Given the description of an element on the screen output the (x, y) to click on. 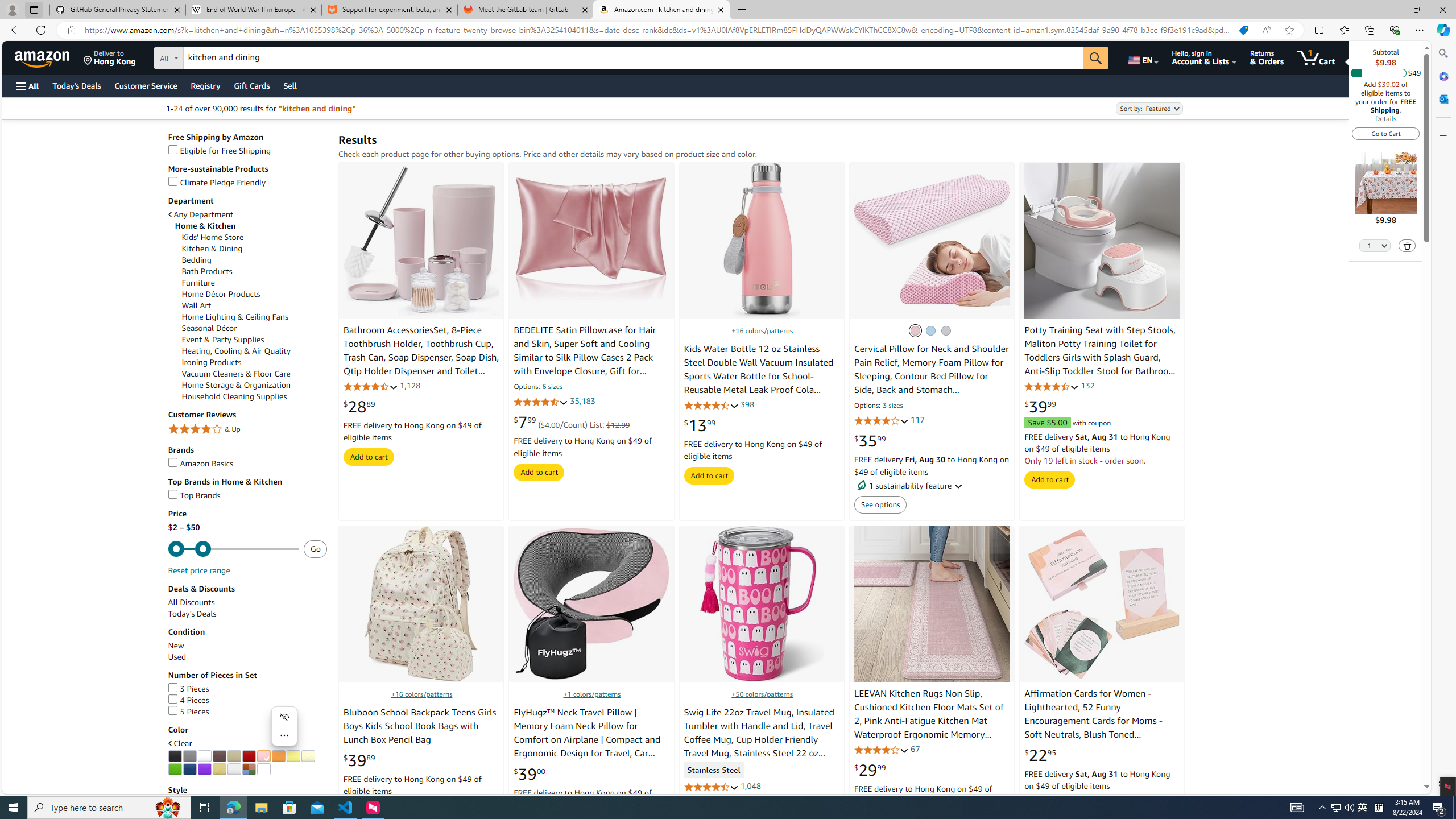
Home Lighting & Ceiling Fans (235, 317)
AutomationID: p_n_feature_twenty_browse-bin/3254113011 (248, 769)
Gift Cards (251, 85)
Silver (234, 769)
3 sizes (892, 405)
Go (1096, 57)
Shopping in Microsoft Edge (1243, 29)
Climate Pledge Friendly (216, 182)
Address and search bar (658, 29)
AutomationID: p_n_feature_twenty_browse-bin/3254104011 (263, 756)
Home Lighting & Ceiling Fans (254, 316)
4 Stars & Up& Up (247, 429)
